Given the description of an element on the screen output the (x, y) to click on. 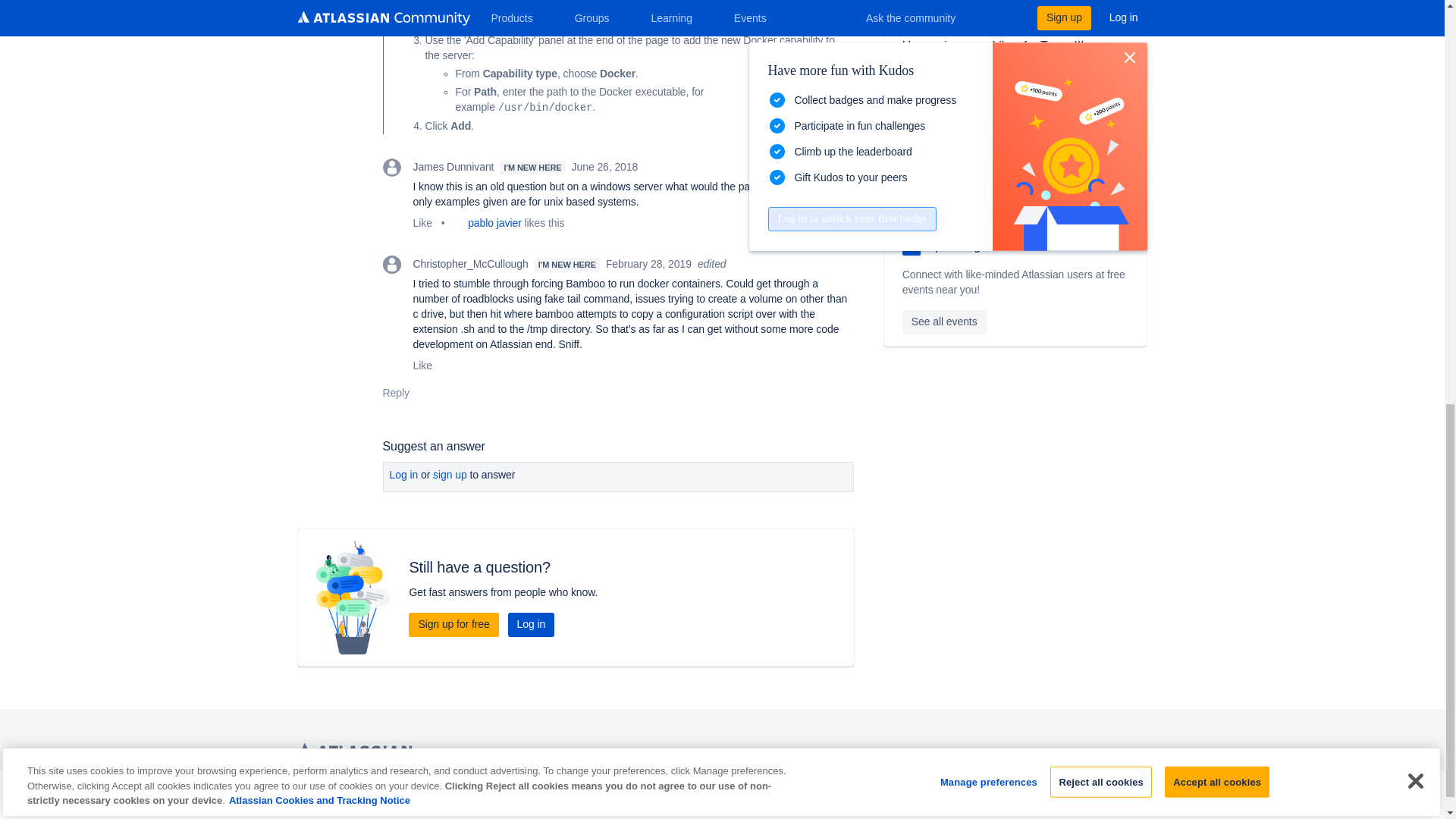
James Dunnivant (390, 167)
AUG Leaders (911, 246)
